Given the description of an element on the screen output the (x, y) to click on. 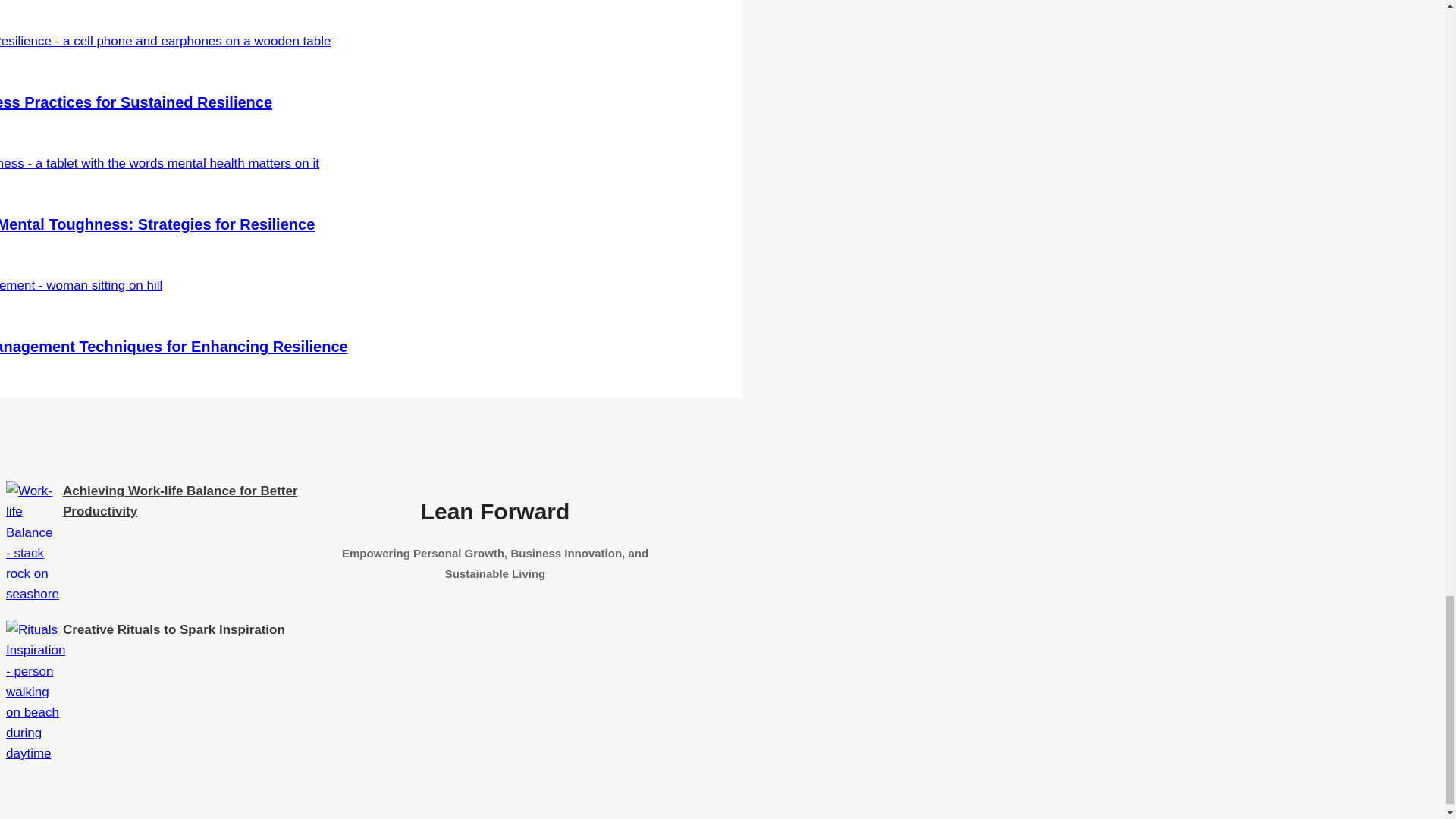
Building Mental Toughness: Strategies for Resilience (157, 224)
Creative Rituals to Spark Inspiration (173, 629)
Mindfulness Practices for Sustained Resilience (136, 102)
Achieving Work-life Balance for Better Productivity (32, 594)
Achieving Work-life Balance for Better Productivity (180, 501)
Stress Management Techniques for Enhancing Resilience (173, 346)
Creative Rituals to Spark Inspiration (35, 753)
